Given the description of an element on the screen output the (x, y) to click on. 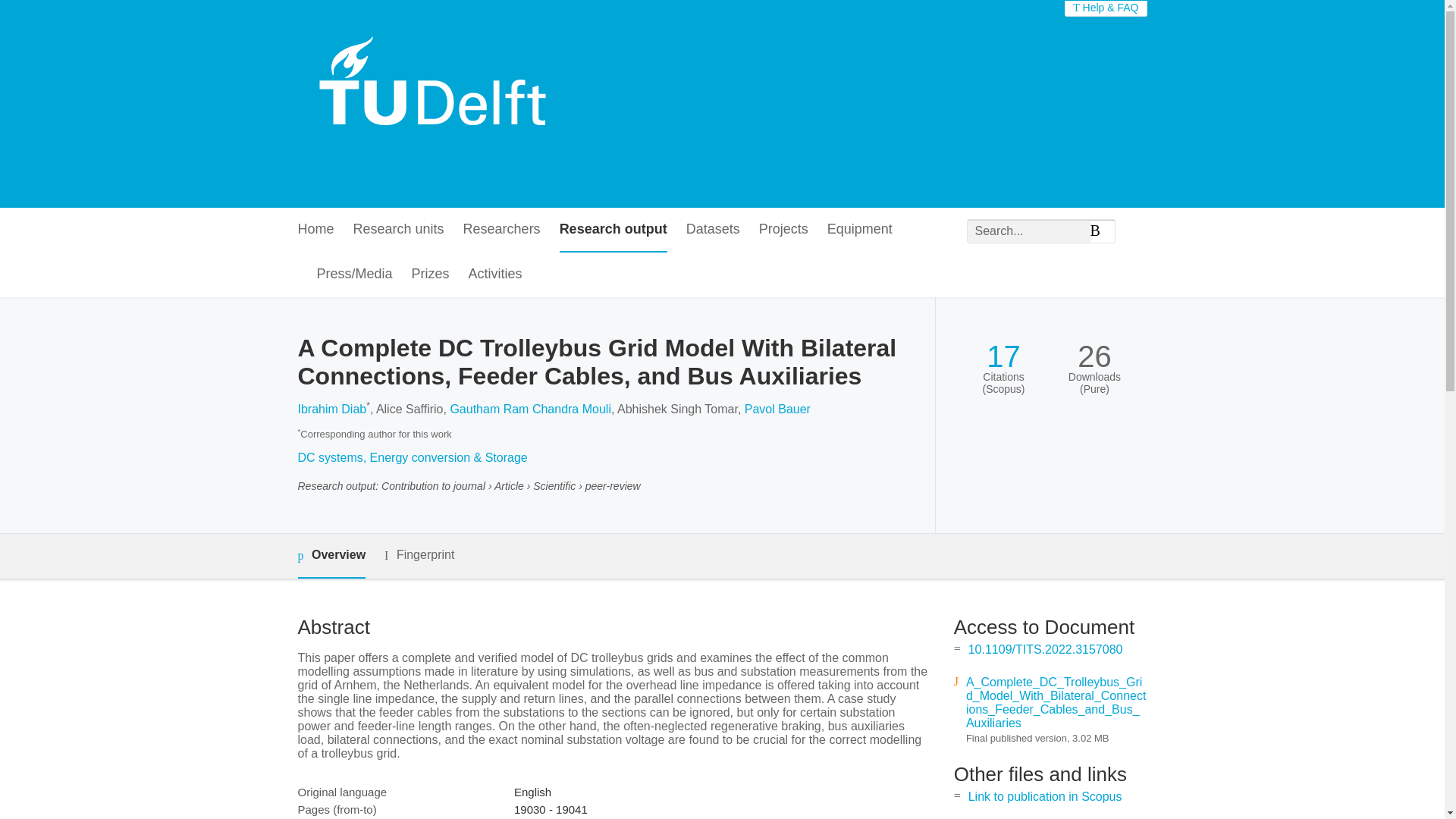
Overview (331, 555)
Pavol Bauer (777, 408)
Projects (783, 230)
17 (1003, 356)
Ibrahim Diab (331, 408)
Equipment (859, 230)
Activities (495, 274)
Research units (398, 230)
Researchers (501, 230)
Gautham Ram Chandra Mouli (530, 408)
Datasets (712, 230)
Research output (612, 230)
TU Delft Research Portal Home (438, 103)
Fingerprint (419, 555)
